Given the description of an element on the screen output the (x, y) to click on. 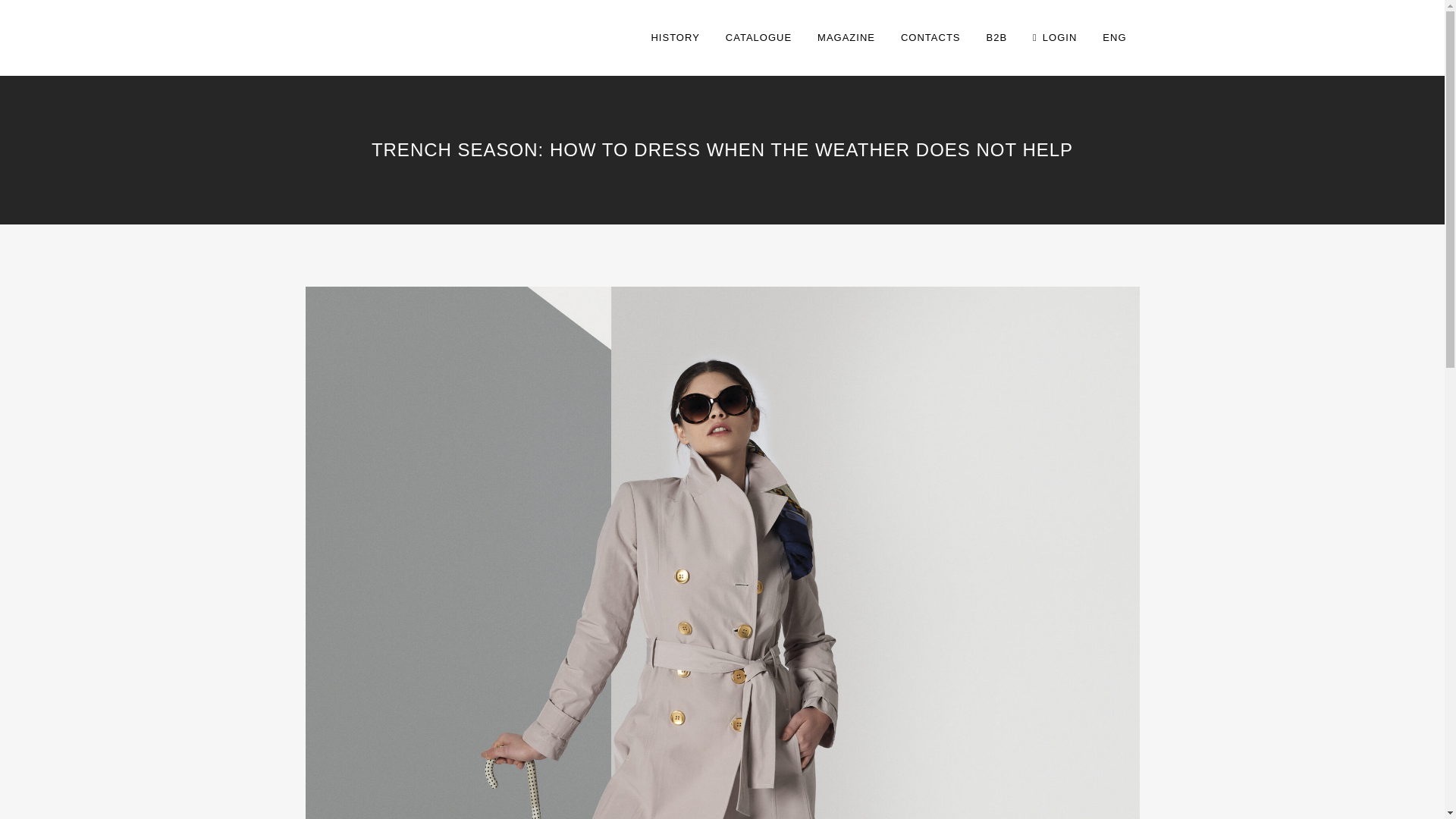
MAGAZINE (846, 38)
CONTACTS (931, 38)
Cookie Policy (779, 781)
Privacy Policy (687, 781)
CATALOGUE (759, 38)
LOGIN (1054, 38)
Privacy Policy Eng (885, 781)
Cookie Policy Eng (998, 781)
HISTORY (674, 38)
